Given the description of an element on the screen output the (x, y) to click on. 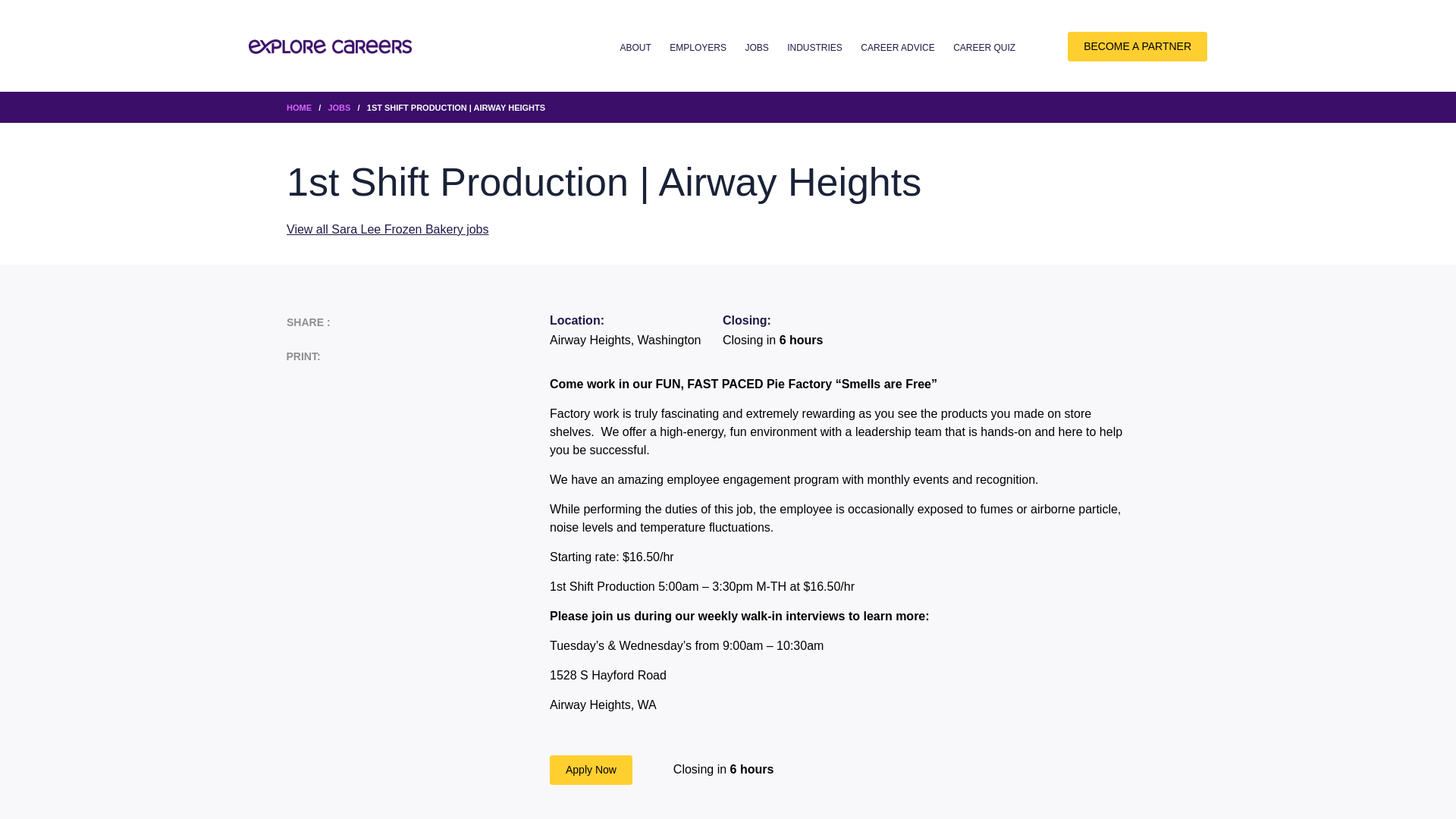
JOBS (756, 47)
EMPLOYERS (697, 47)
JOBS (338, 107)
ABOUT (635, 47)
CAREER QUIZ (983, 47)
CAREER ADVICE (897, 47)
View all Sara Lee Frozen Bakery jobs (387, 228)
BECOME A PARTNER (1137, 46)
HOME (298, 107)
INDUSTRIES (815, 47)
